Given the description of an element on the screen output the (x, y) to click on. 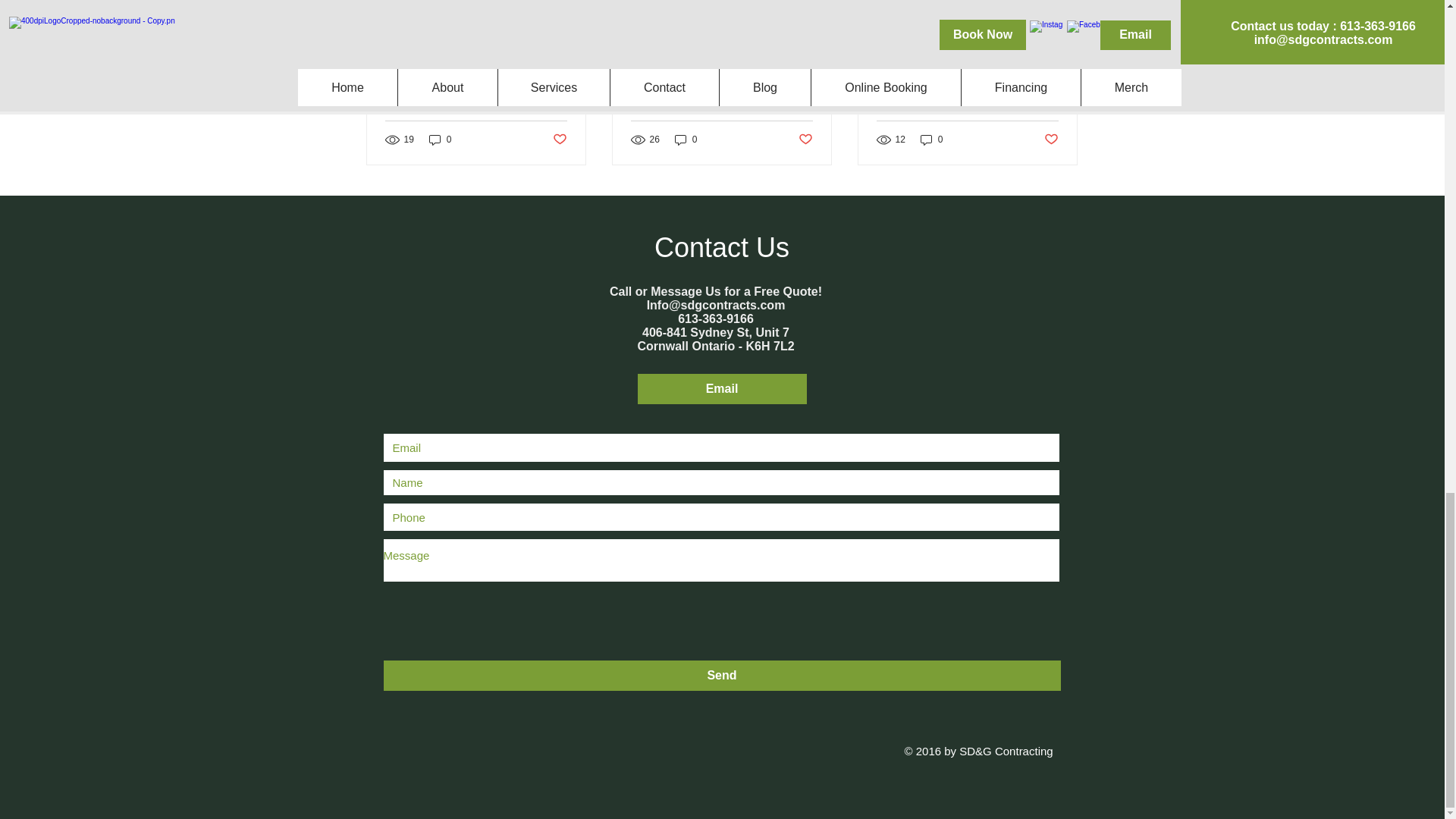
0 (685, 139)
Post not marked as liked (558, 139)
0 (440, 139)
Post not marked as liked (804, 139)
0 (931, 139)
Send (722, 675)
Post not marked as liked (1050, 139)
Email (721, 388)
Common Mistakes to Avoid When Trimming Your Hedges (476, 86)
